Given the description of an element on the screen output the (x, y) to click on. 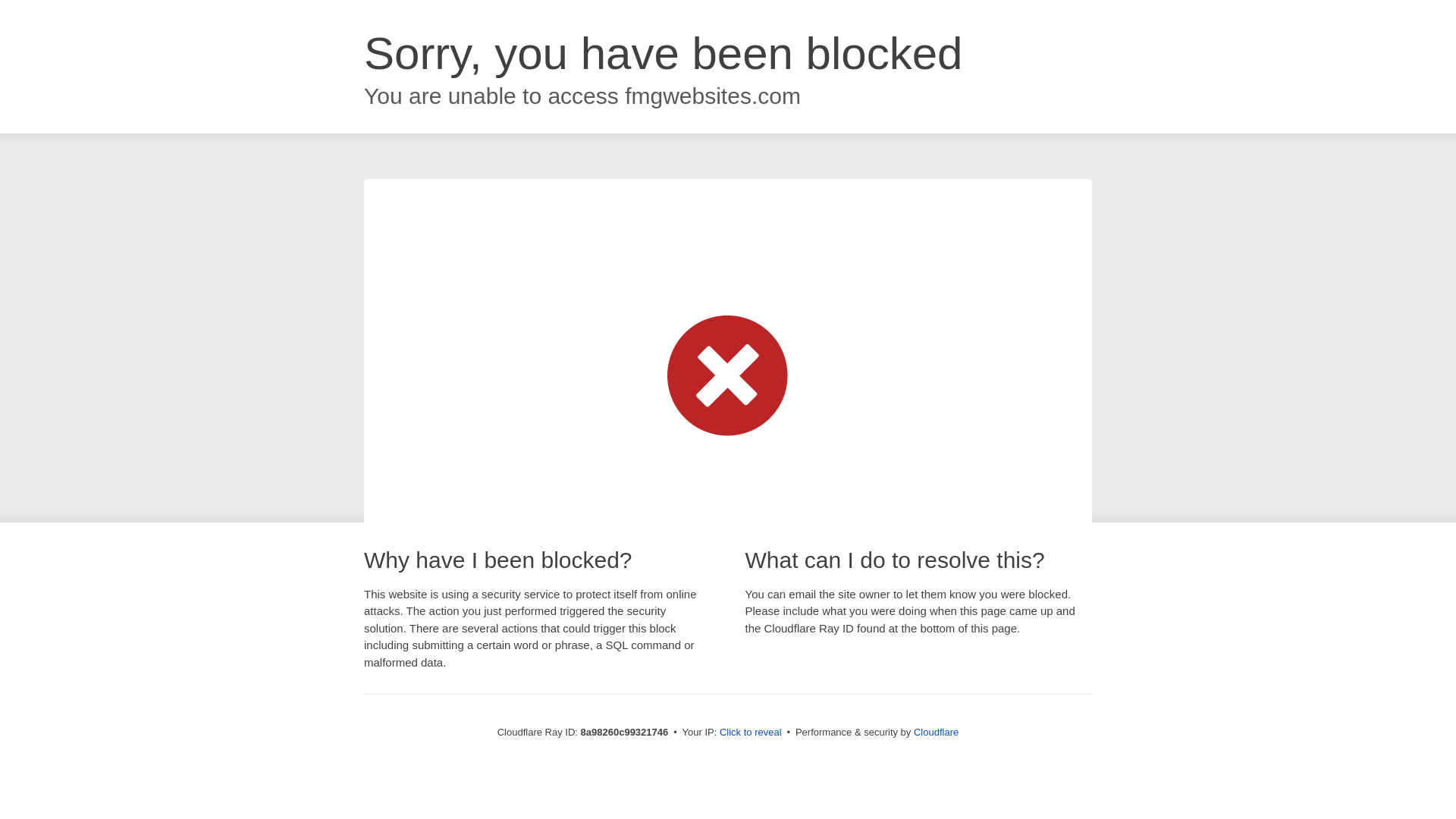
Click to reveal (750, 732)
Cloudflare (936, 731)
